Given the description of an element on the screen output the (x, y) to click on. 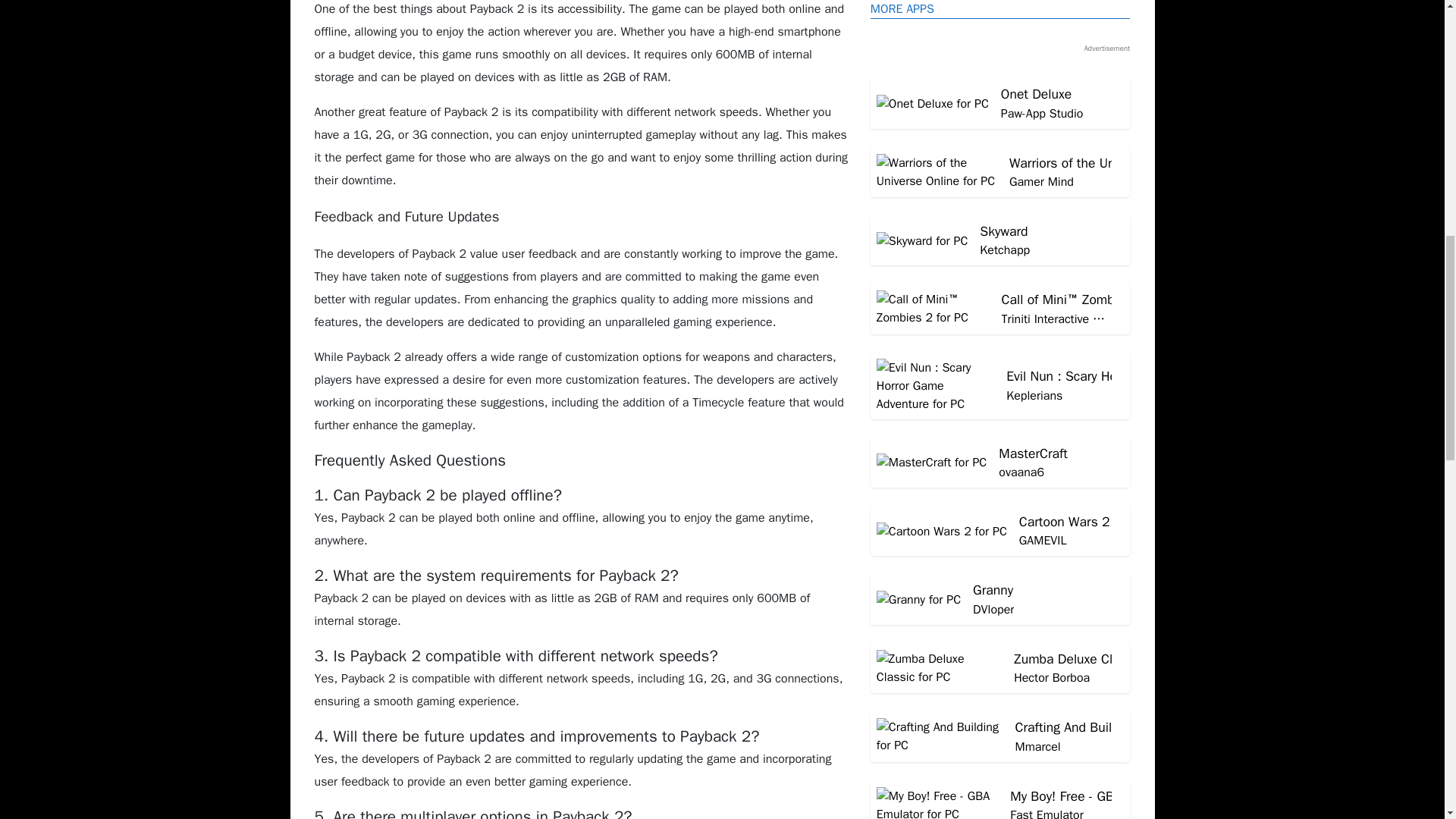
Geometry Dash SubZero for PC (1000, 103)
Bricks DEMOLITION for PC (1000, 309)
Farm City for PC (1000, 309)
Crafting And Building for PC (1000, 377)
The Catapult 2 for PC (1000, 172)
